Given the description of an element on the screen output the (x, y) to click on. 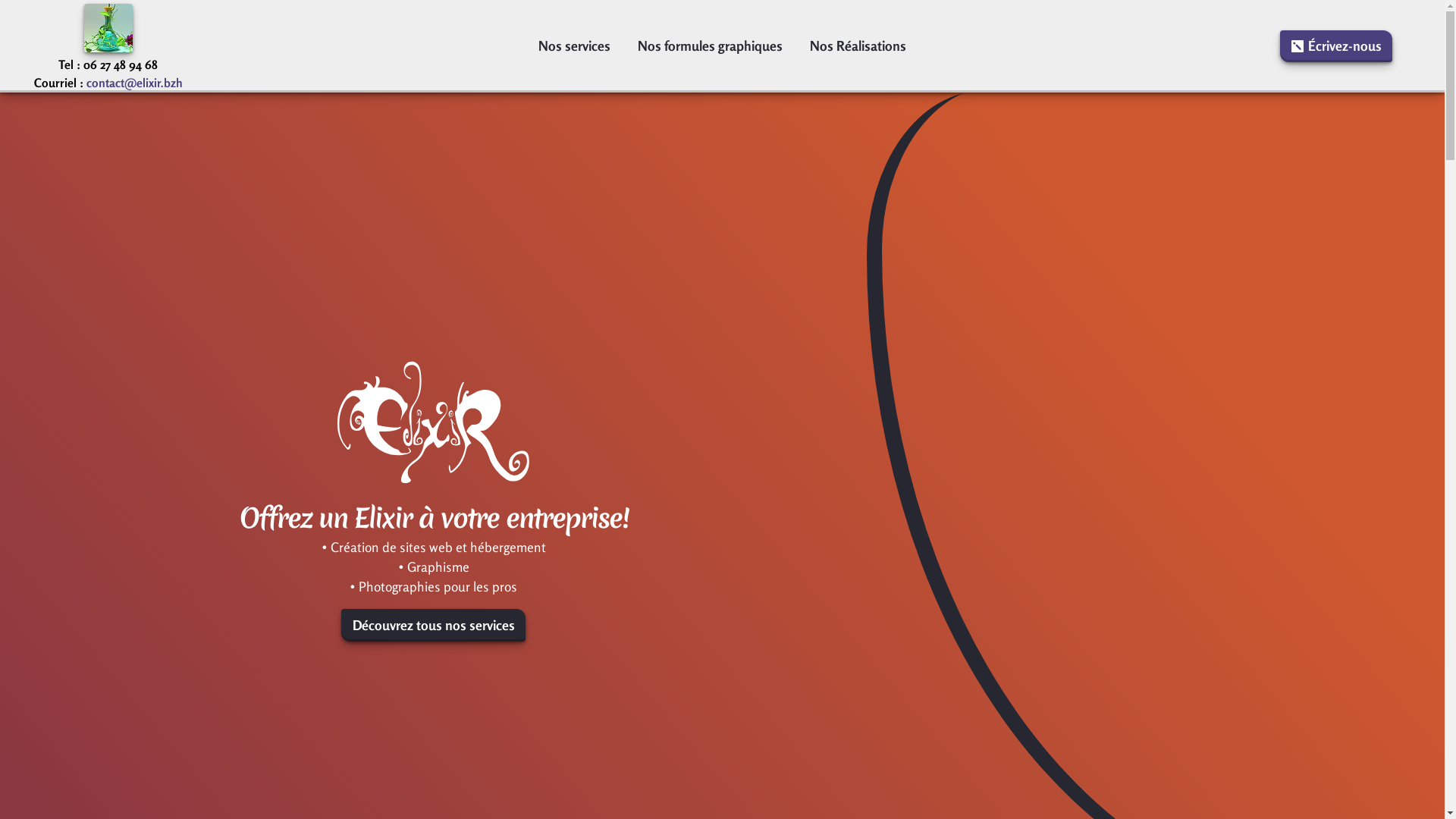
Nos formules graphiques Element type: text (710, 45)
Nos services Element type: text (574, 45)
contact@elixir.bzh Element type: text (134, 82)
